Given the description of an element on the screen output the (x, y) to click on. 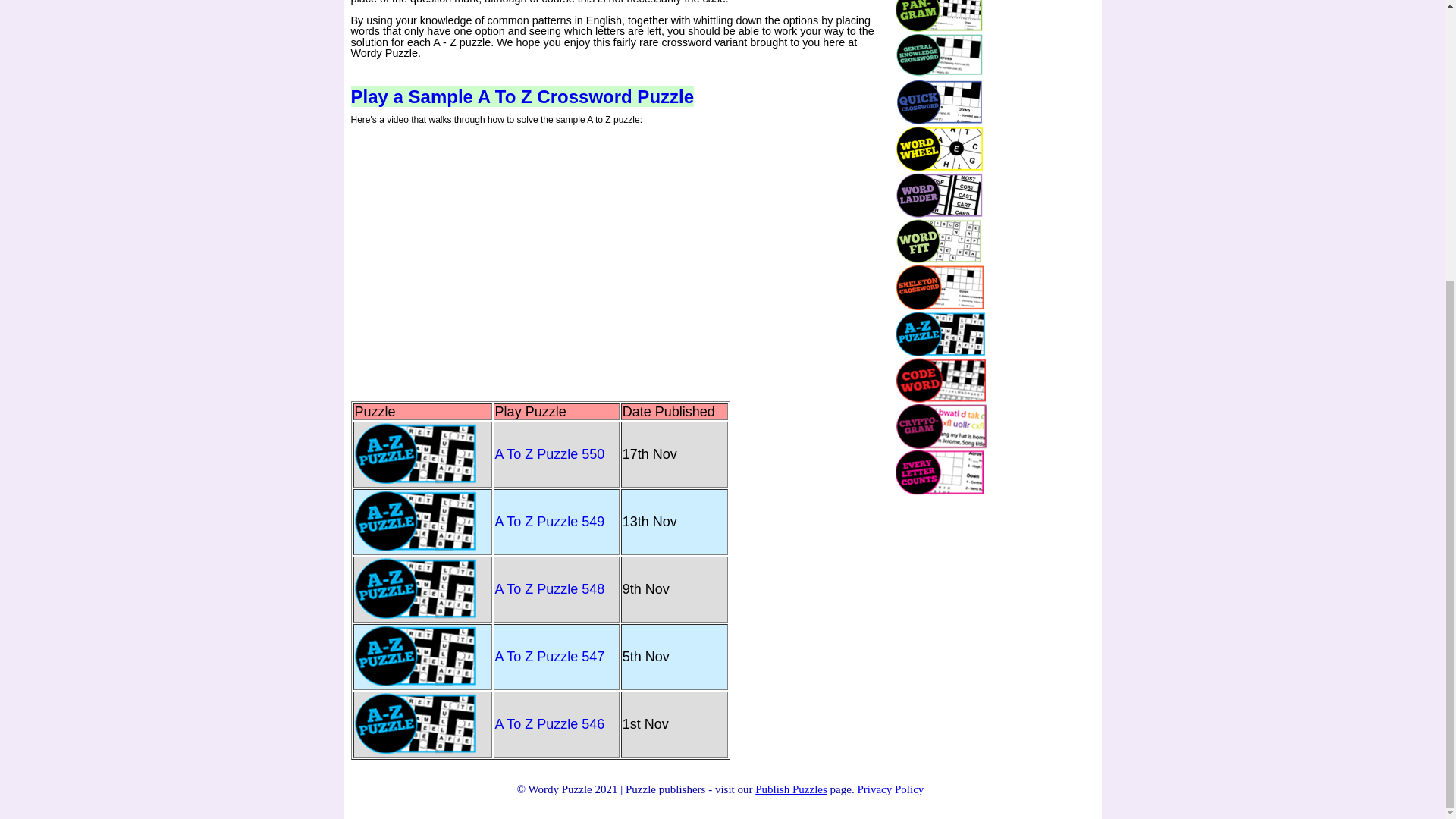
A To Z Puzzle 550 (550, 460)
A To Z Puzzle 546 (550, 730)
Privacy Policy (890, 788)
Play a Sample A To Z Crossword Puzzle (522, 96)
A To Z Puzzle 547 (550, 663)
A To Z Puzzle 548 (550, 595)
A To Z Puzzle 549 (550, 528)
Publish Puzzles (791, 788)
